Given the description of an element on the screen output the (x, y) to click on. 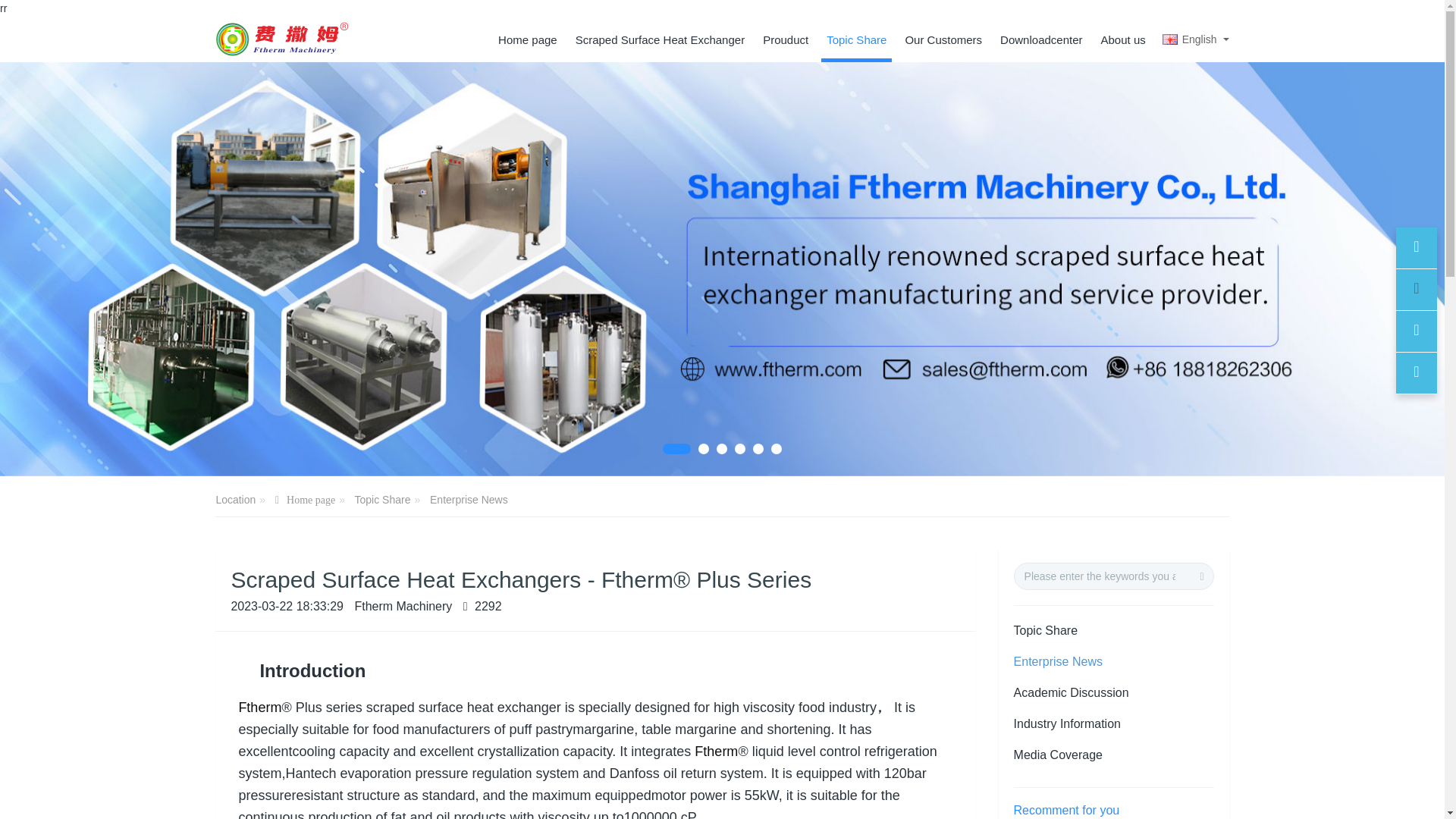
Home page (527, 39)
Downloadcenter (1040, 39)
Scraped Surface Heat Exchanger (659, 39)
Topic Share (856, 39)
Scraped Surface Heat Exchanger (659, 39)
Our Customers (943, 39)
Prouduct (785, 39)
About us (1123, 39)
Prouduct (785, 39)
Home page (527, 39)
